Given the description of an element on the screen output the (x, y) to click on. 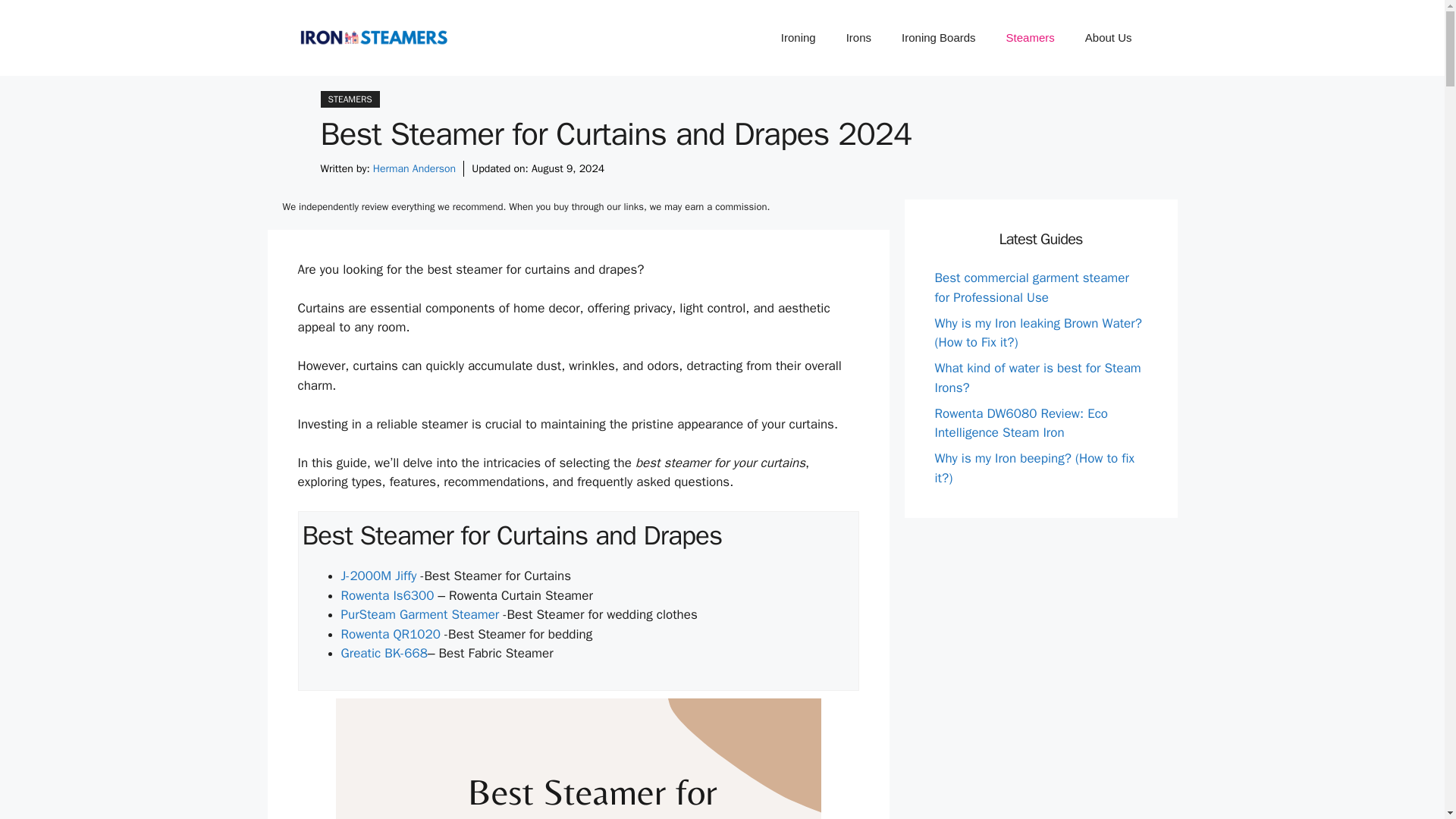
Irons (858, 37)
Rowenta QR1020 (390, 634)
About Us (1108, 37)
Ironing Boards (938, 37)
Clothes Steamers (1030, 37)
Ironing Guides (798, 37)
Herman Anderson (413, 168)
J-2000M Jiffy (378, 575)
PurSteam Garment Steamer (419, 614)
STEAMERS (349, 98)
